Given the description of an element on the screen output the (x, y) to click on. 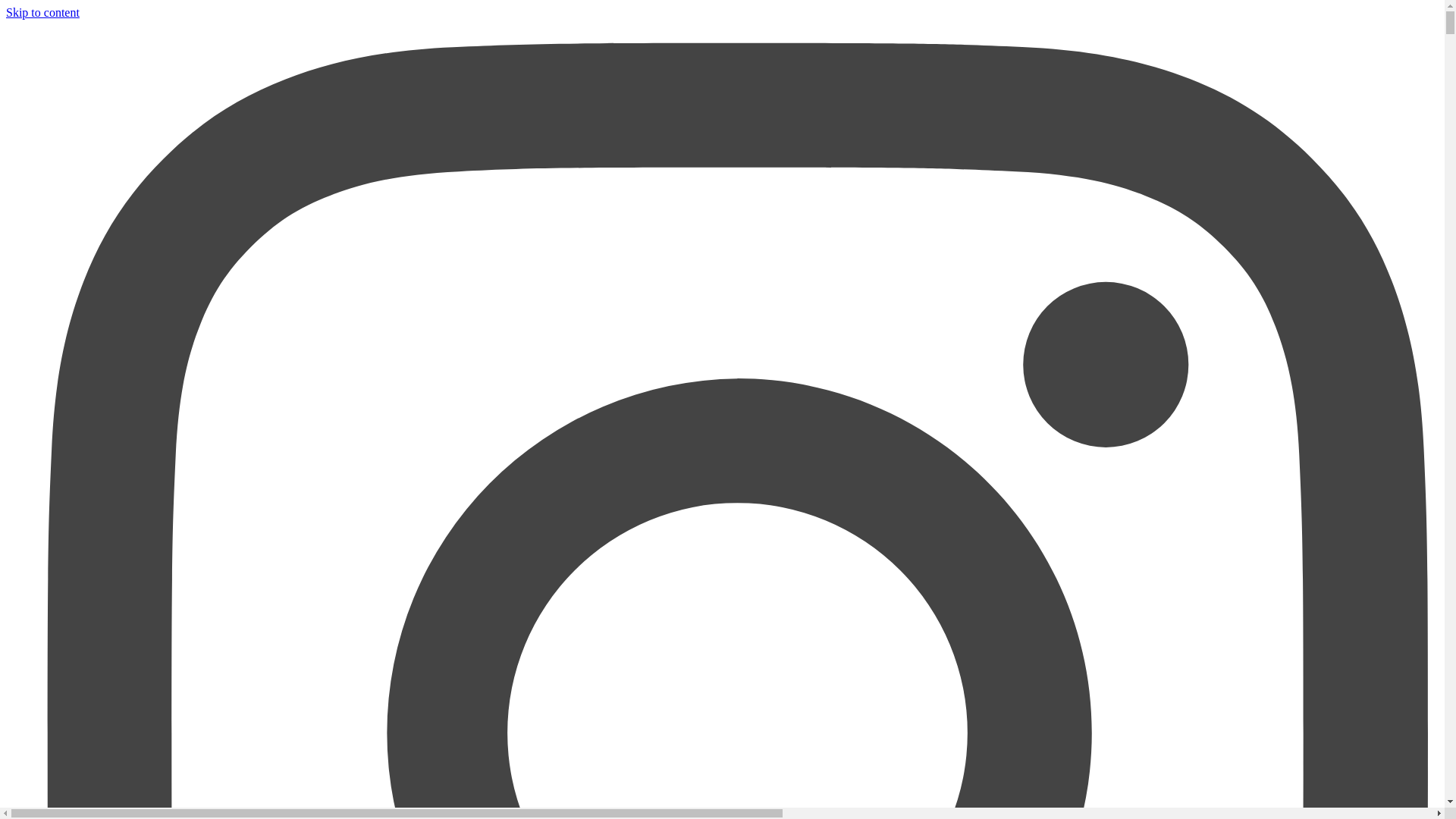
Skip to content Element type: text (42, 12)
